Given the description of an element on the screen output the (x, y) to click on. 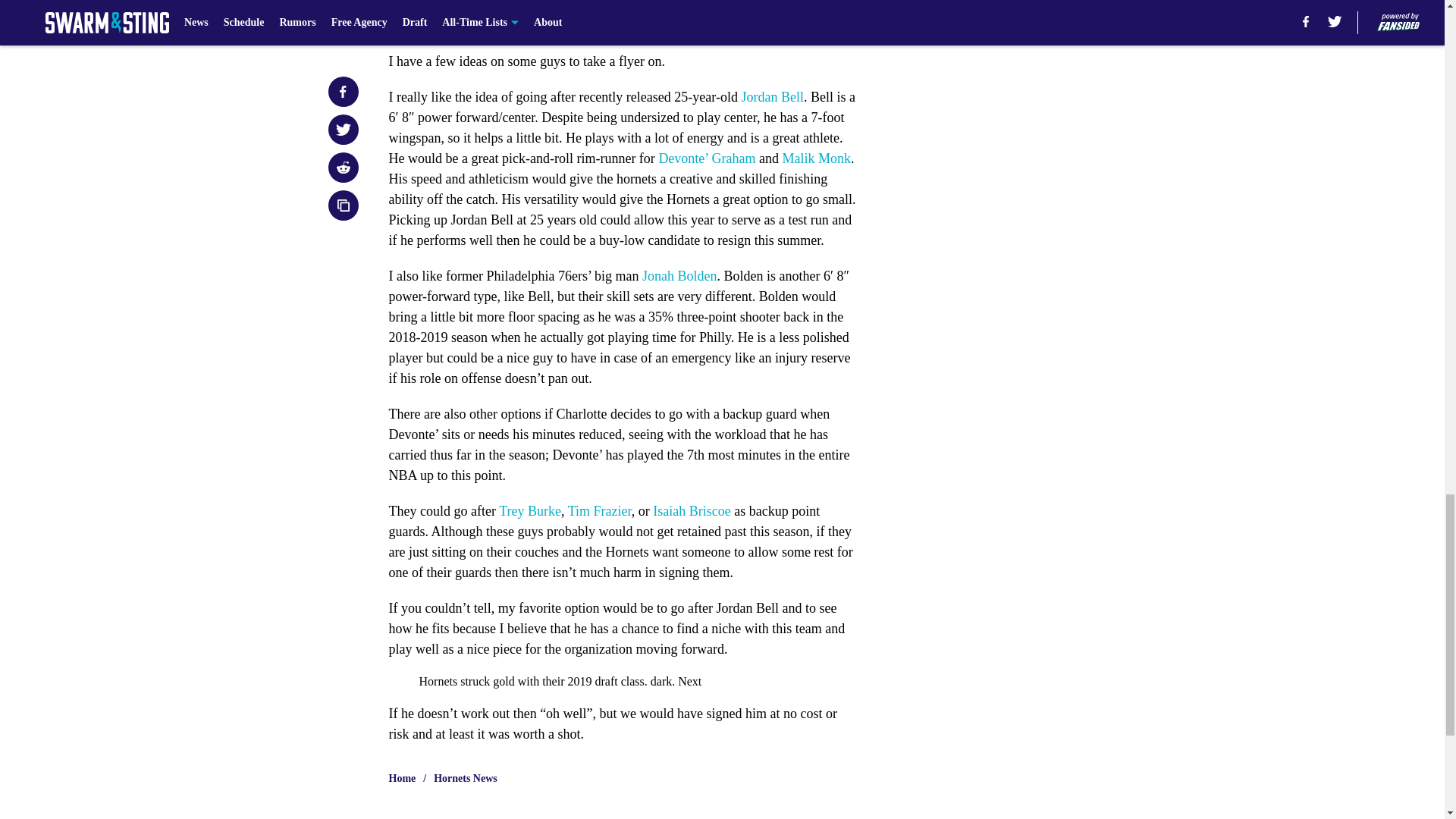
Hornets News (465, 778)
Malik Monk (815, 158)
Trey Burke (529, 510)
Home (401, 778)
Jonah Bolden (679, 275)
Tim Frazier (599, 510)
Isaiah Briscoe (691, 510)
Jordan Bell (772, 96)
